Given the description of an element on the screen output the (x, y) to click on. 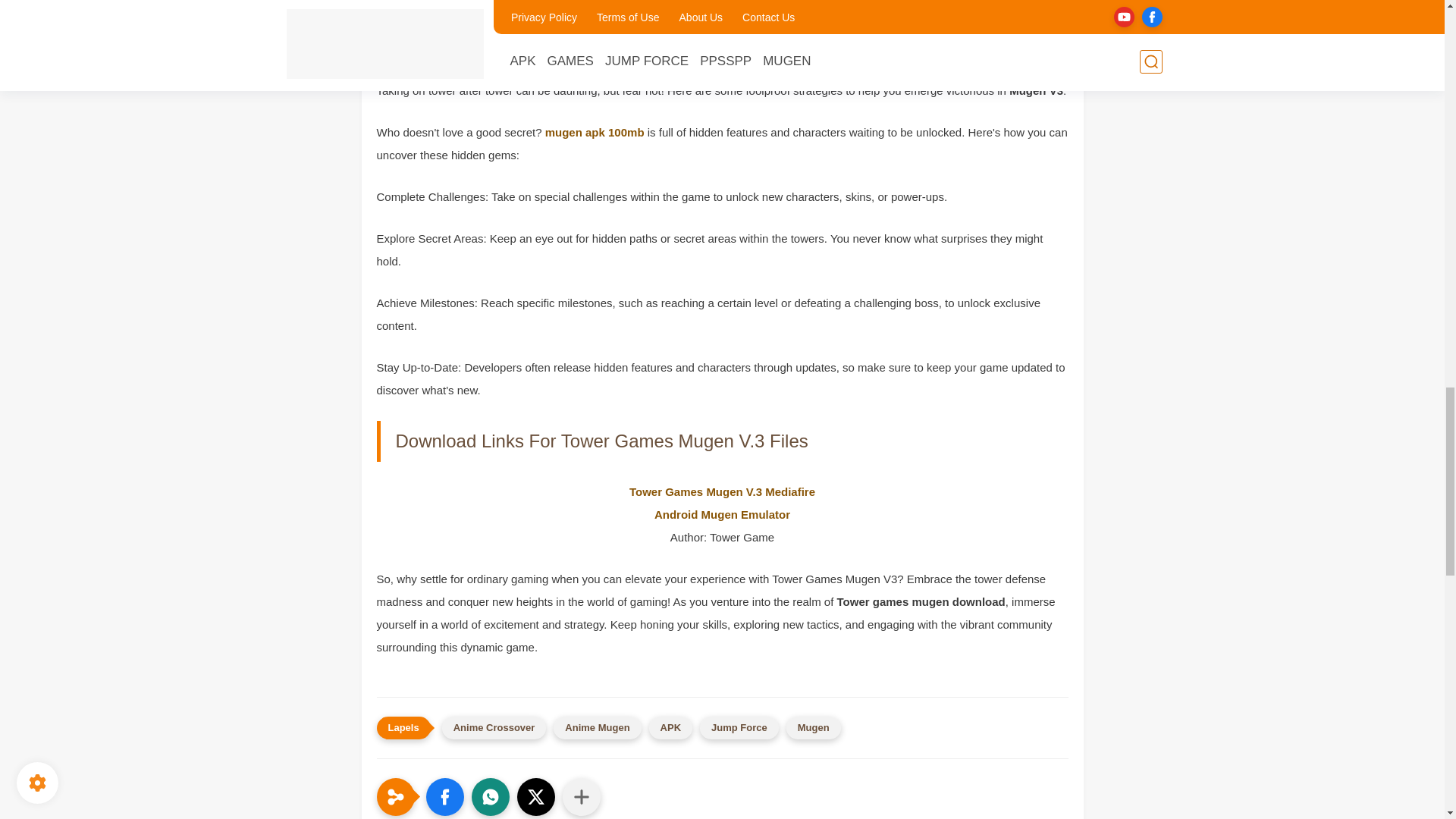
Mugen (813, 727)
Android Mugen Emulator (721, 513)
mugen apk 100mb (594, 132)
APK (671, 727)
Anime Crossover (494, 727)
Anime Mugen (596, 727)
Tower Games Mugen V.3 Mediafire (721, 491)
Anime Mugen (596, 727)
Jump Force (739, 727)
Anime Crossover (494, 727)
